Given the description of an element on the screen output the (x, y) to click on. 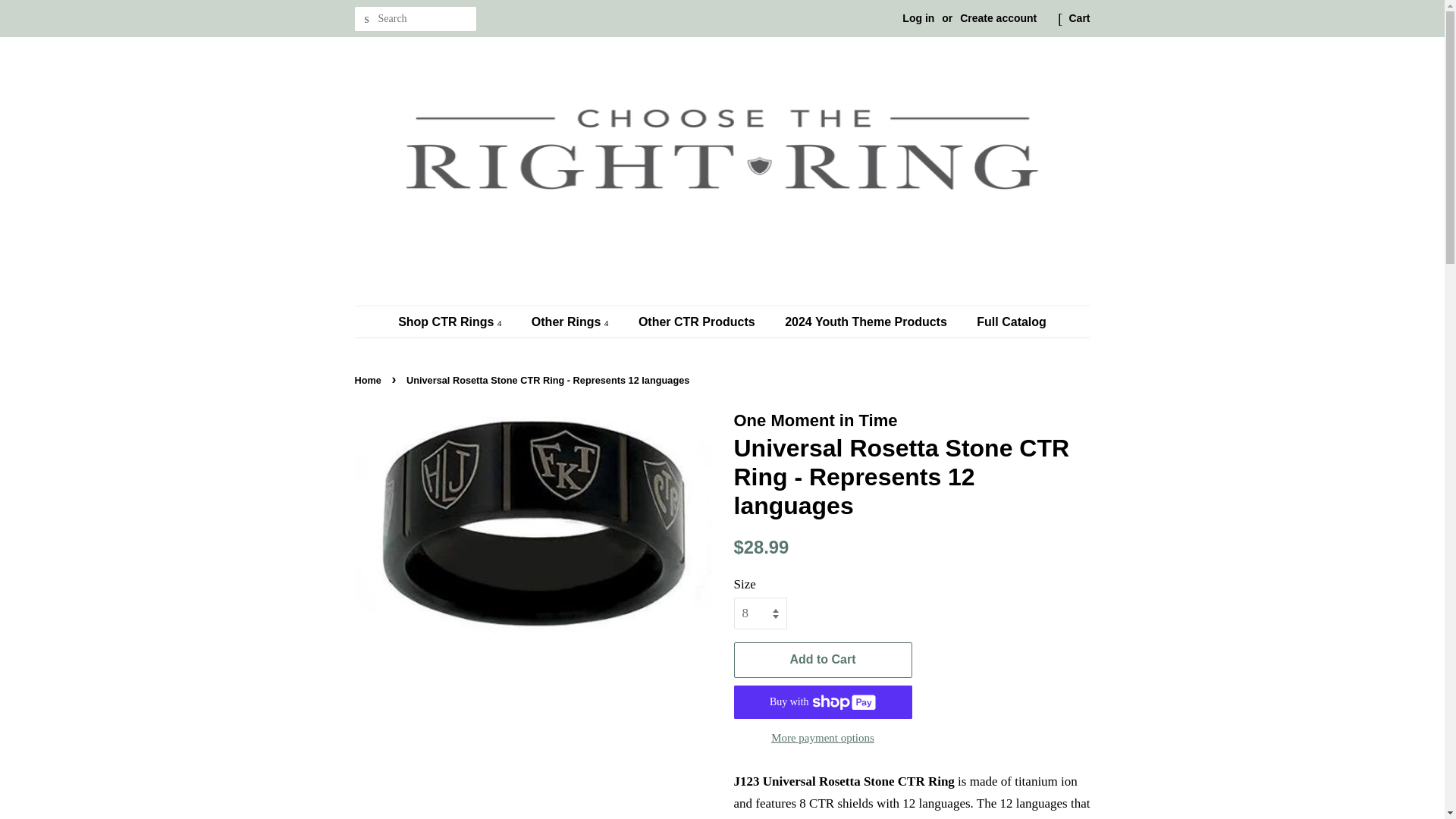
Log in (918, 18)
Back to the frontpage (370, 379)
Search (366, 18)
Create account (997, 18)
Cart (1078, 18)
